Given the description of an element on the screen output the (x, y) to click on. 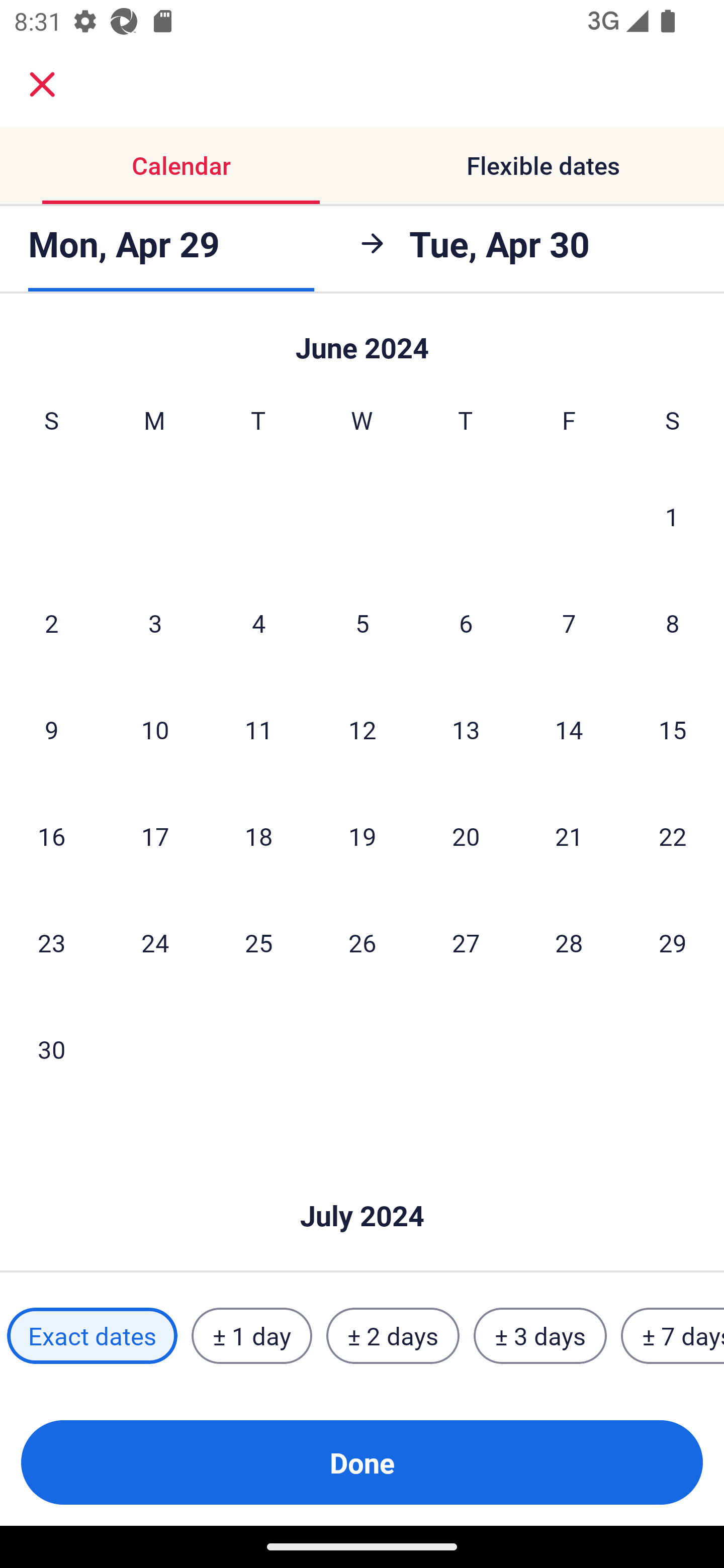
close. (42, 84)
Flexible dates (542, 164)
1 Saturday, June 1, 2024 (672, 515)
2 Sunday, June 2, 2024 (51, 622)
3 Monday, June 3, 2024 (155, 622)
4 Tuesday, June 4, 2024 (258, 622)
5 Wednesday, June 5, 2024 (362, 622)
6 Thursday, June 6, 2024 (465, 622)
7 Friday, June 7, 2024 (569, 622)
8 Saturday, June 8, 2024 (672, 622)
9 Sunday, June 9, 2024 (51, 728)
10 Monday, June 10, 2024 (155, 728)
11 Tuesday, June 11, 2024 (258, 728)
12 Wednesday, June 12, 2024 (362, 728)
13 Thursday, June 13, 2024 (465, 728)
14 Friday, June 14, 2024 (569, 728)
15 Saturday, June 15, 2024 (672, 728)
16 Sunday, June 16, 2024 (51, 835)
17 Monday, June 17, 2024 (155, 835)
18 Tuesday, June 18, 2024 (258, 835)
19 Wednesday, June 19, 2024 (362, 835)
20 Thursday, June 20, 2024 (465, 835)
21 Friday, June 21, 2024 (569, 835)
22 Saturday, June 22, 2024 (672, 835)
23 Sunday, June 23, 2024 (51, 942)
24 Monday, June 24, 2024 (155, 942)
25 Tuesday, June 25, 2024 (258, 942)
26 Wednesday, June 26, 2024 (362, 942)
27 Thursday, June 27, 2024 (465, 942)
28 Friday, June 28, 2024 (569, 942)
29 Saturday, June 29, 2024 (672, 942)
30 Sunday, June 30, 2024 (51, 1048)
Skip to Done (362, 1185)
Exact dates (92, 1335)
± 1 day (251, 1335)
± 2 days (392, 1335)
± 3 days (539, 1335)
± 7 days (672, 1335)
Done (361, 1462)
